Given the description of an element on the screen output the (x, y) to click on. 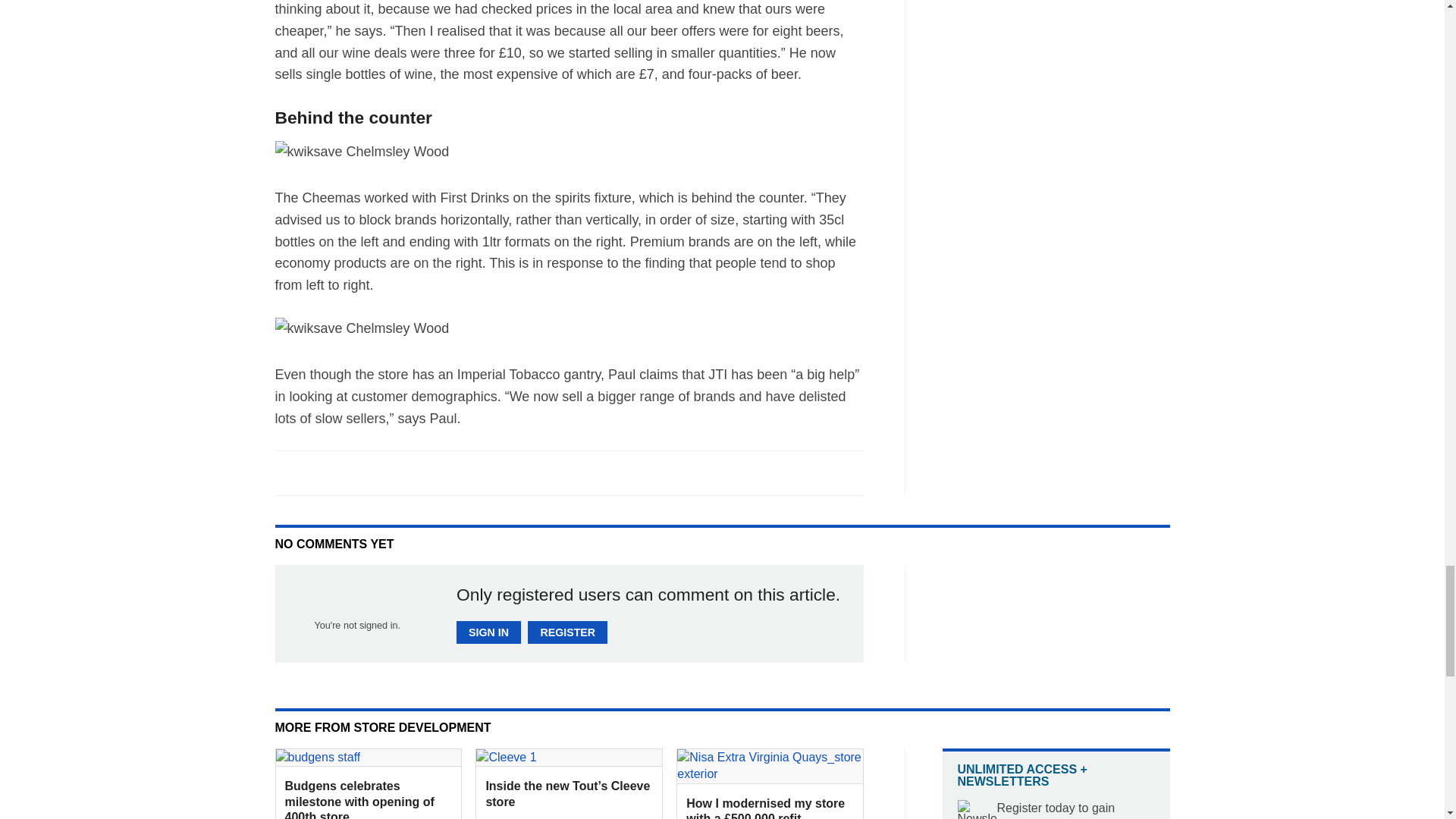
No comments (840, 481)
Share this on Twitter (320, 472)
Email this article (386, 472)
Share this on Facebook (288, 472)
Share this on Linked in (352, 472)
